Given the description of an element on the screen output the (x, y) to click on. 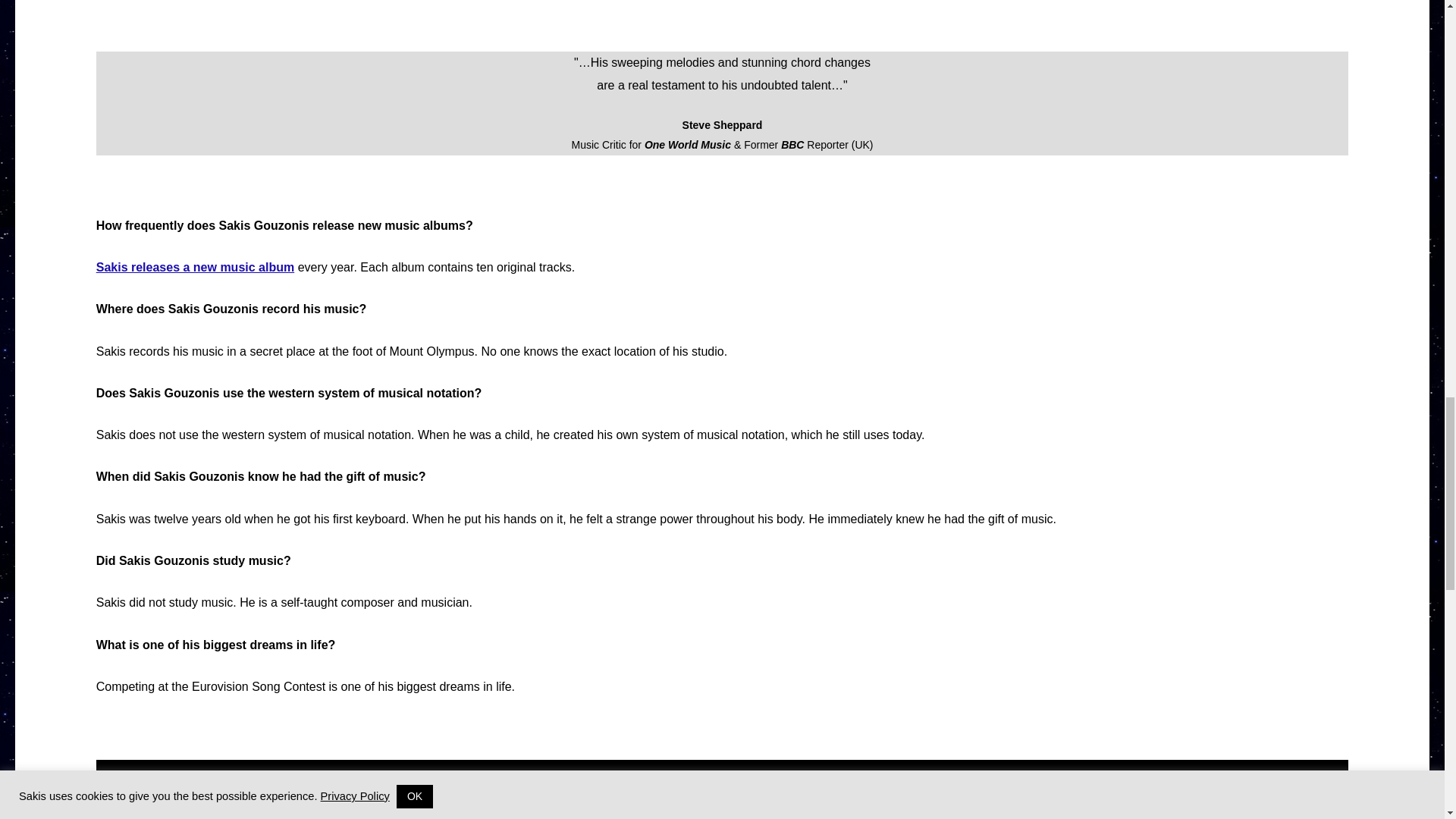
Music Albums by Sakis Gouzonis (195, 267)
Sakis releases a new music album (195, 267)
